Given the description of an element on the screen output the (x, y) to click on. 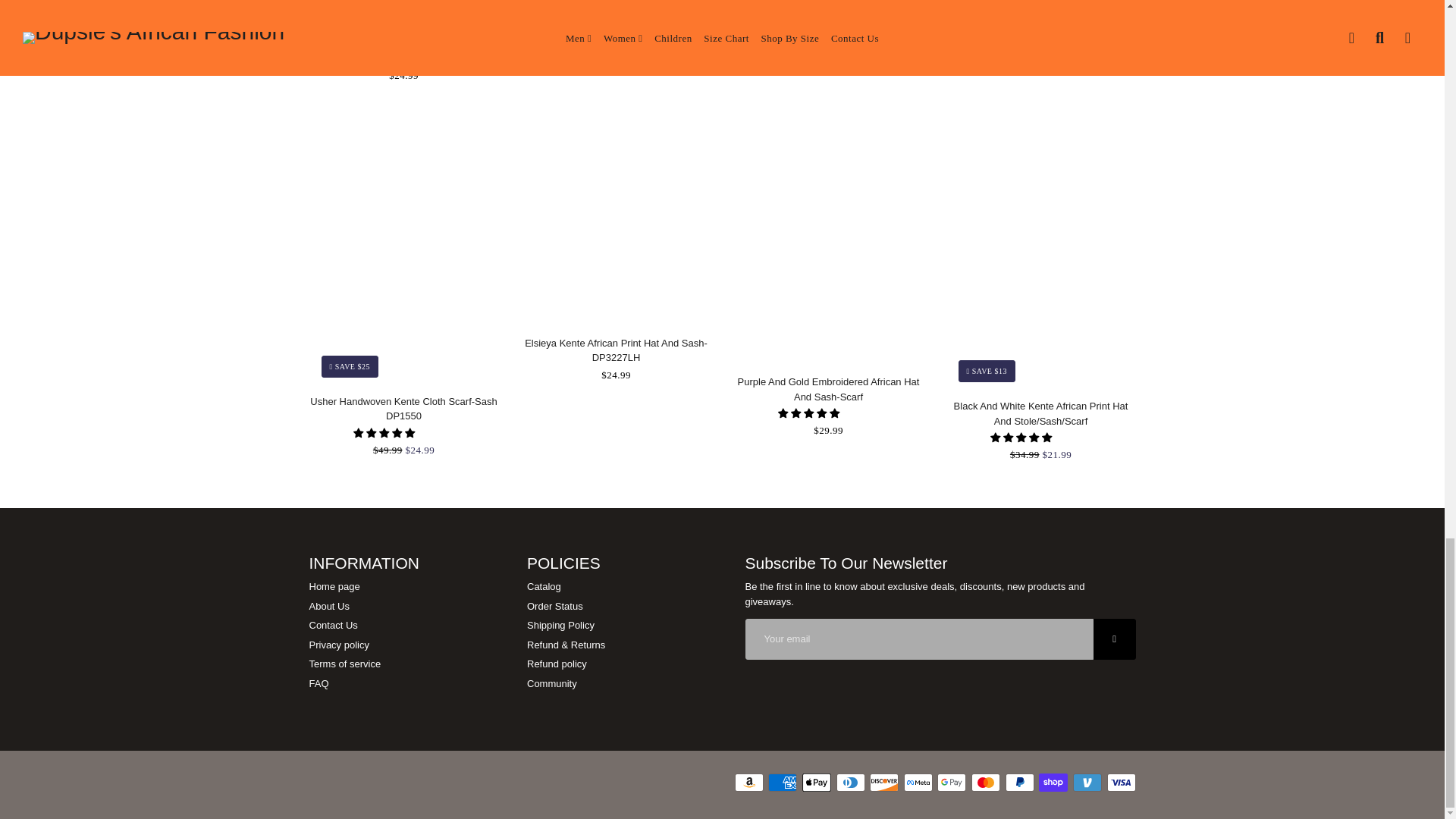
American Express (782, 782)
Venmo (1087, 782)
Shop Pay (1053, 782)
Diners Club (849, 782)
Visa (1120, 782)
Apple Pay (816, 782)
Discover (883, 782)
Meta Pay (918, 782)
Amazon (748, 782)
PayPal (1019, 782)
Mastercard (985, 782)
Google Pay (951, 782)
